Given the description of an element on the screen output the (x, y) to click on. 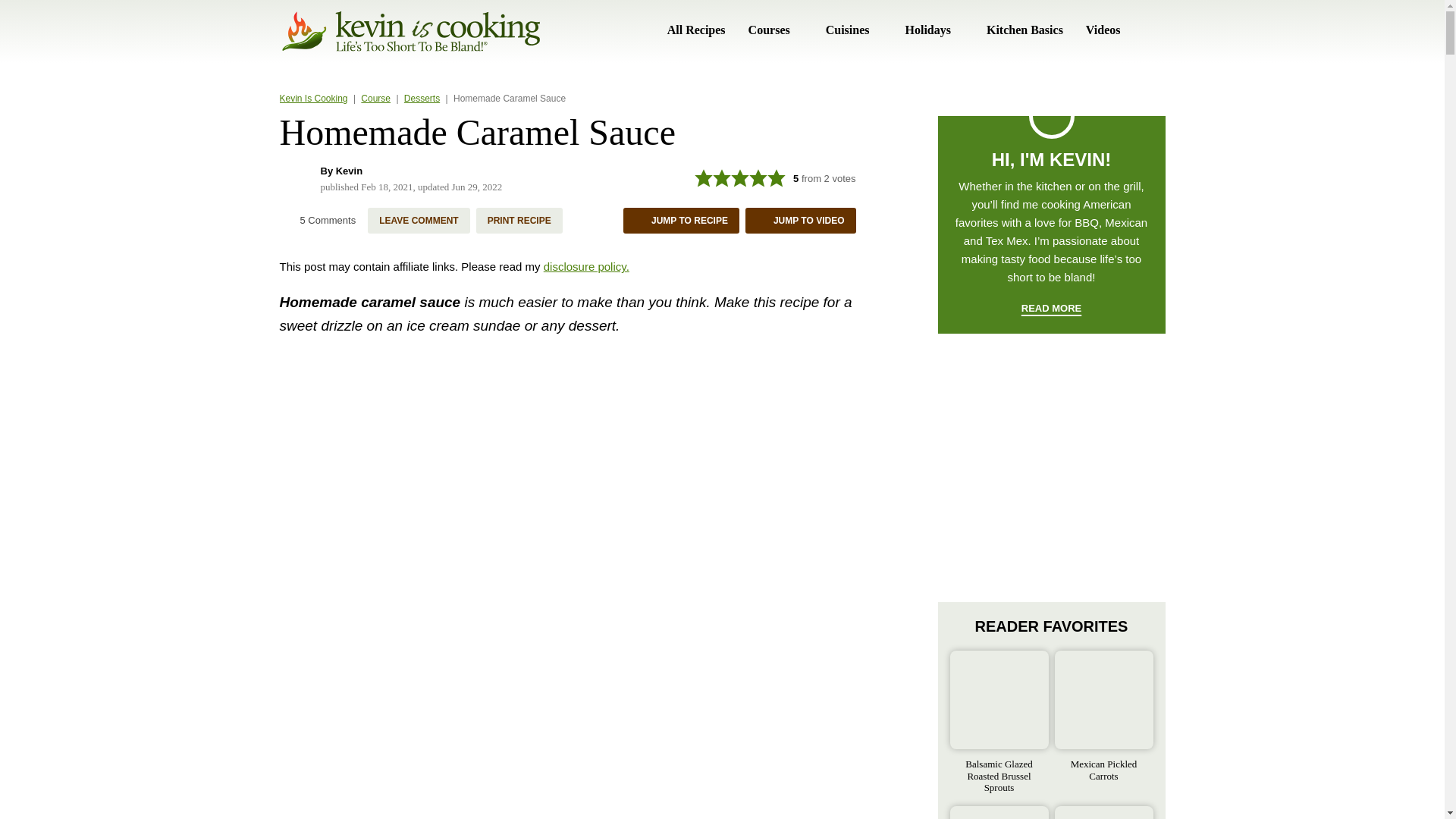
Cuisines (853, 30)
All Recipes (696, 30)
Courses (774, 30)
